Given the description of an element on the screen output the (x, y) to click on. 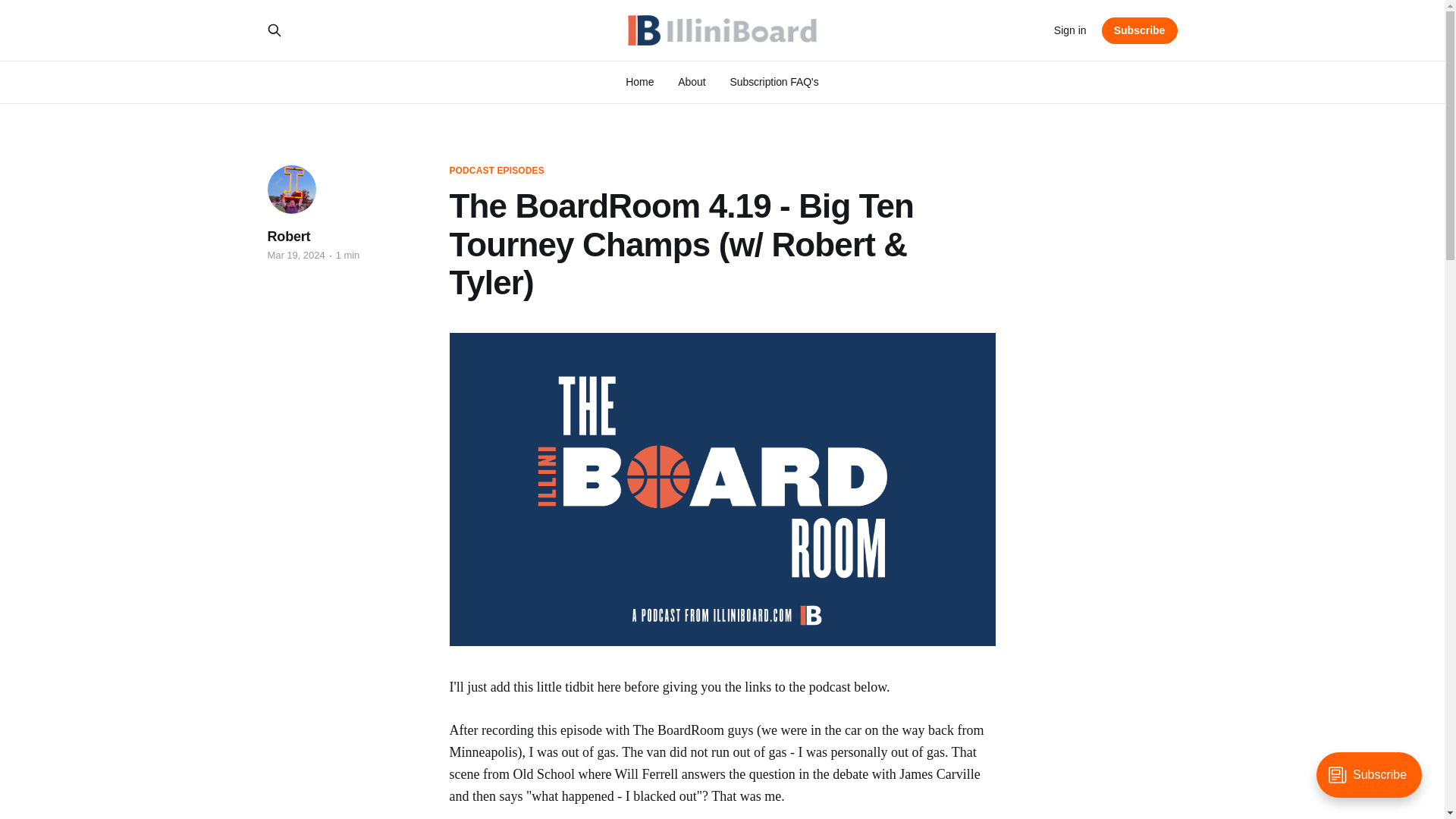
About (691, 81)
Robert (288, 236)
Subscribe (1139, 29)
Home (639, 81)
Subscription FAQ's (774, 81)
PODCAST EPISODES (495, 170)
Sign in (1070, 30)
